Given the description of an element on the screen output the (x, y) to click on. 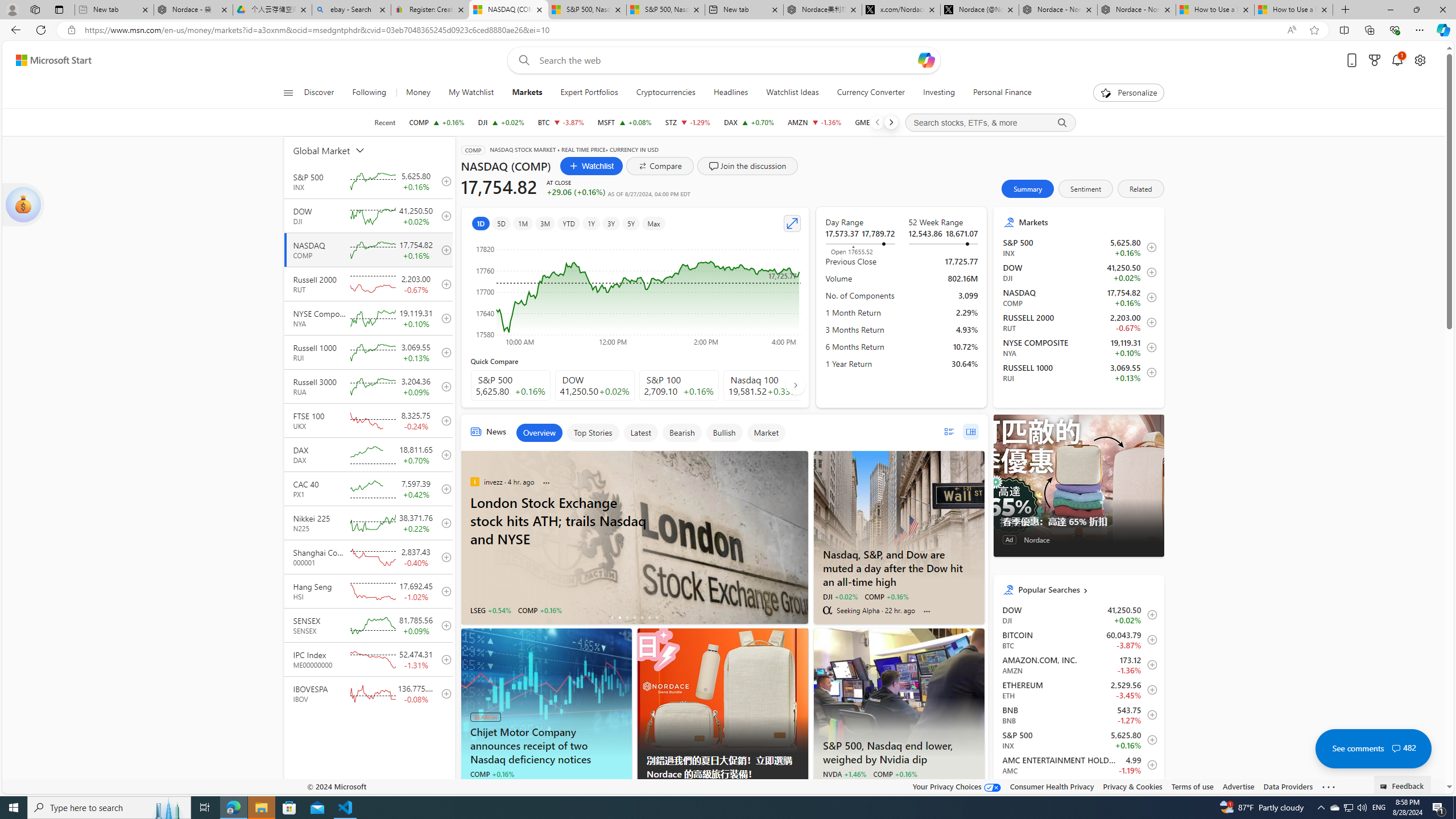
COMP NASDAQ increase 17,754.82 +29.06 +0.16% itemundefined (1078, 297)
Compare (660, 166)
Bearish (681, 432)
add to your watchlist (442, 693)
COMP +0.16% (894, 773)
Summary (1027, 188)
DJI +0.02% (839, 596)
ETH Ethereum decrease 2,529.56 -87.30 -3.45% itemundefined (1078, 689)
